Given the description of an element on the screen output the (x, y) to click on. 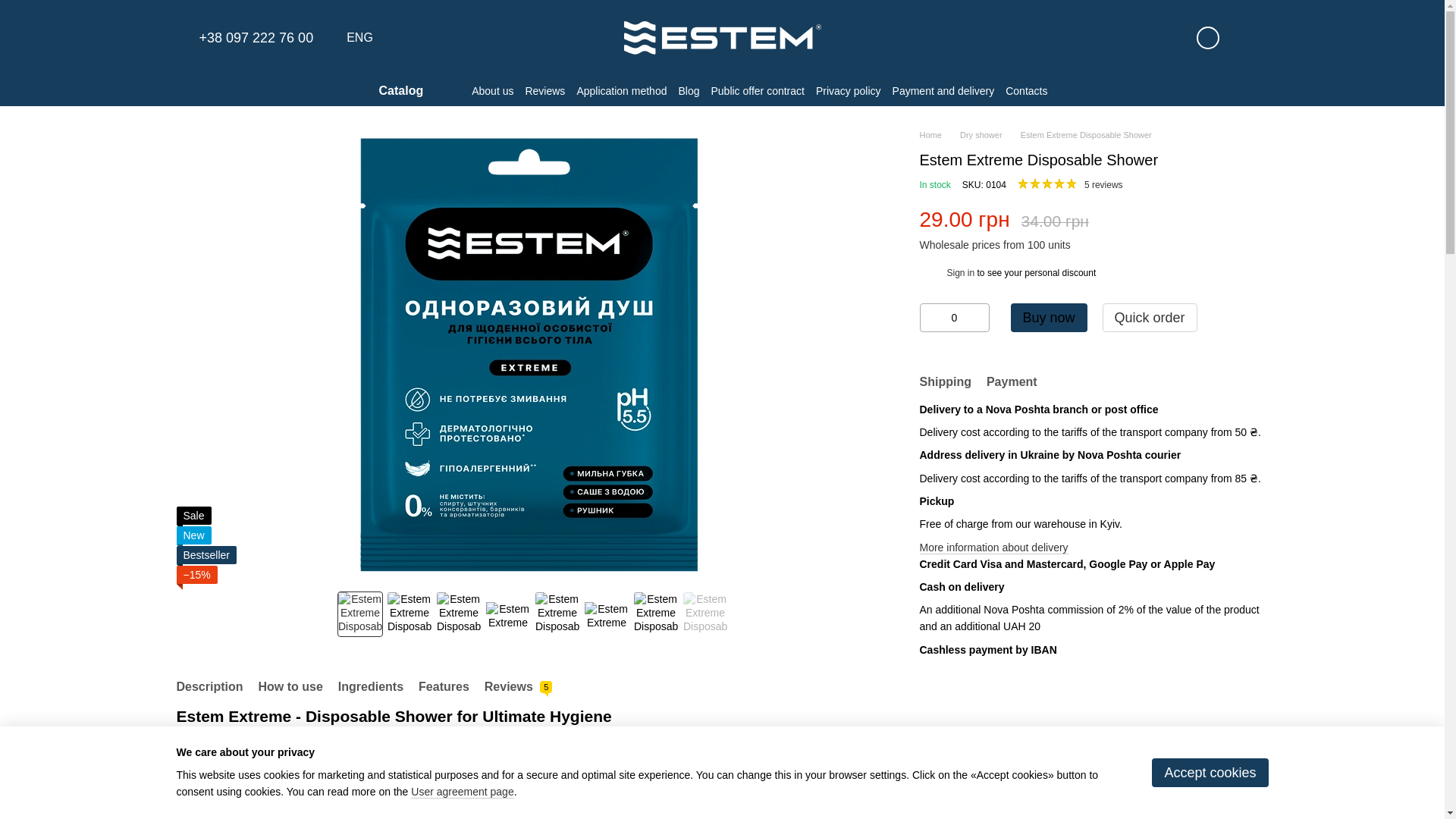
Contacts (1026, 91)
Payment and delivery (943, 91)
Sign in (1208, 37)
About us (492, 91)
Reviews (544, 91)
Application method (621, 91)
0 (955, 317)
Blog (688, 91)
Privacy policy (847, 91)
Public offer contract (756, 91)
